Given the description of an element on the screen output the (x, y) to click on. 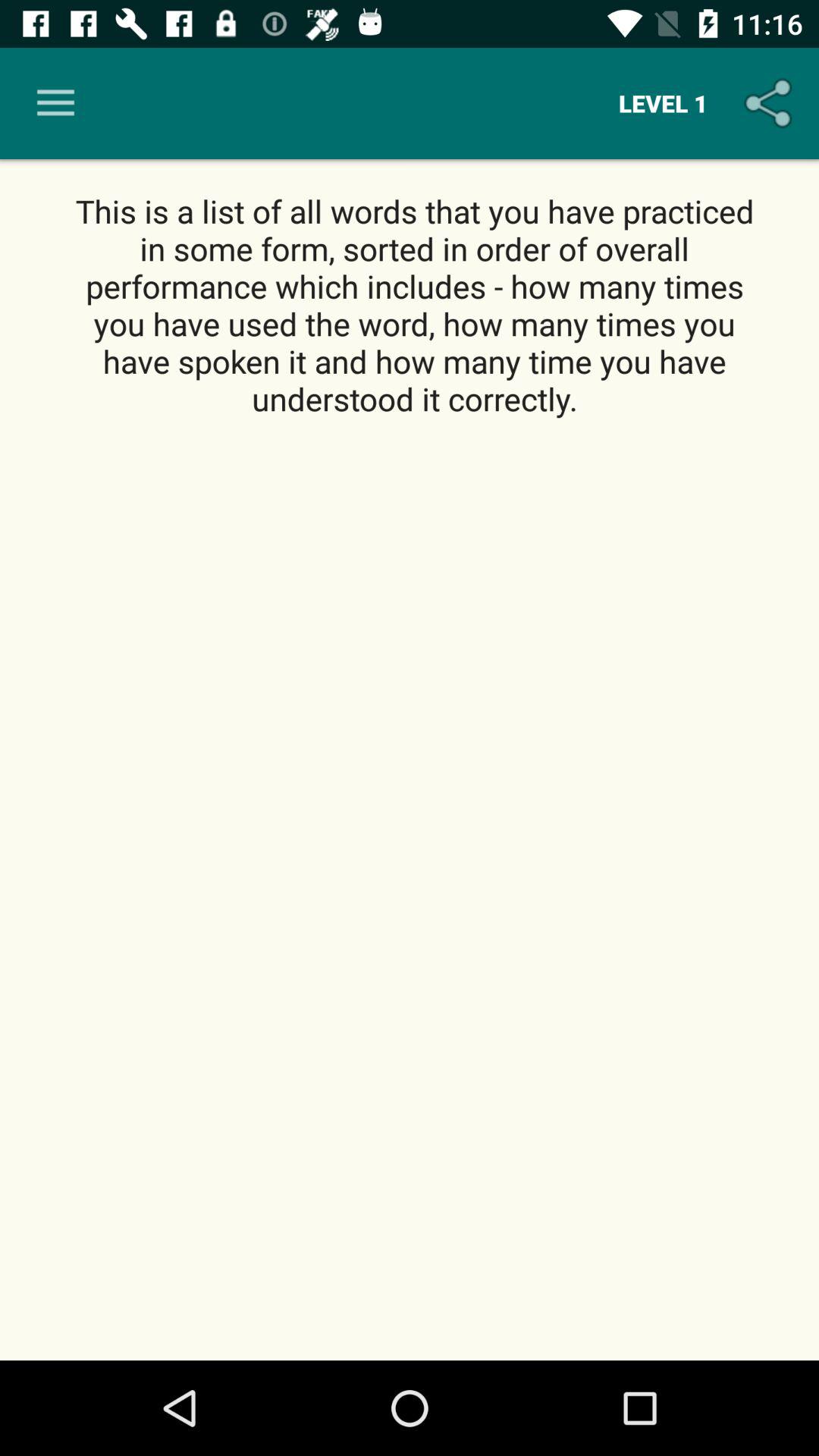
choose the icon to the right of the level 1 icon (771, 103)
